Given the description of an element on the screen output the (x, y) to click on. 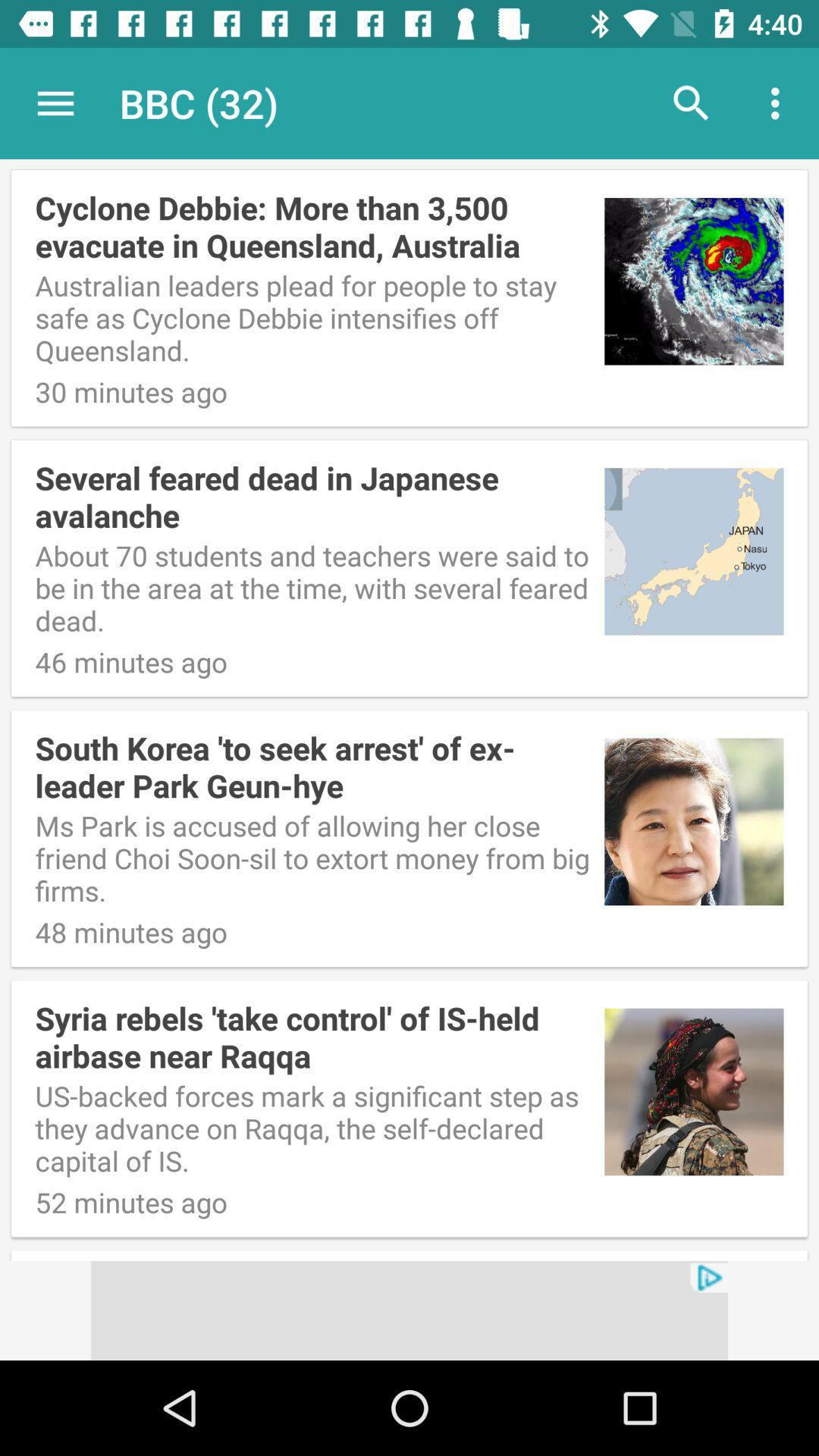
turn off icon above cyclone debbie more app (55, 103)
